Given the description of an element on the screen output the (x, y) to click on. 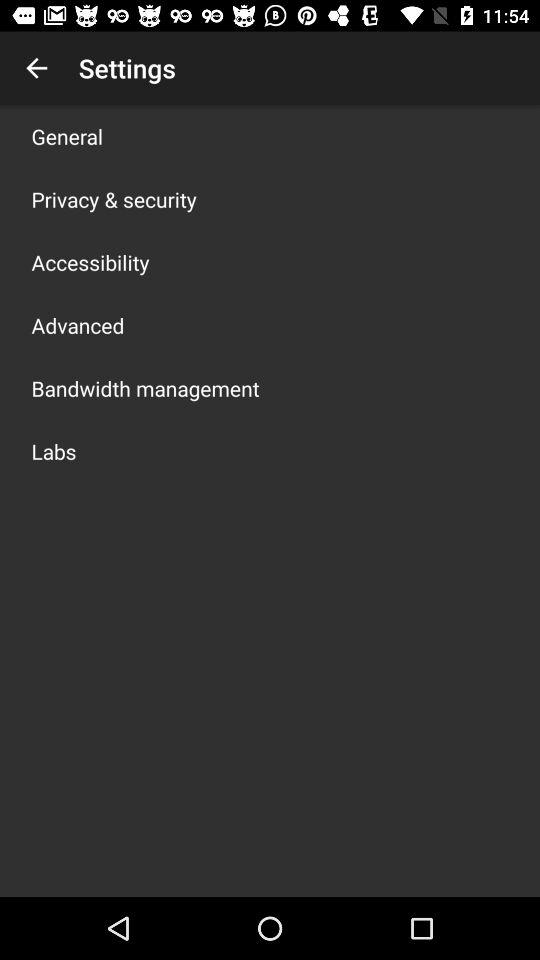
turn off the icon above the bandwidth management icon (77, 325)
